Given the description of an element on the screen output the (x, y) to click on. 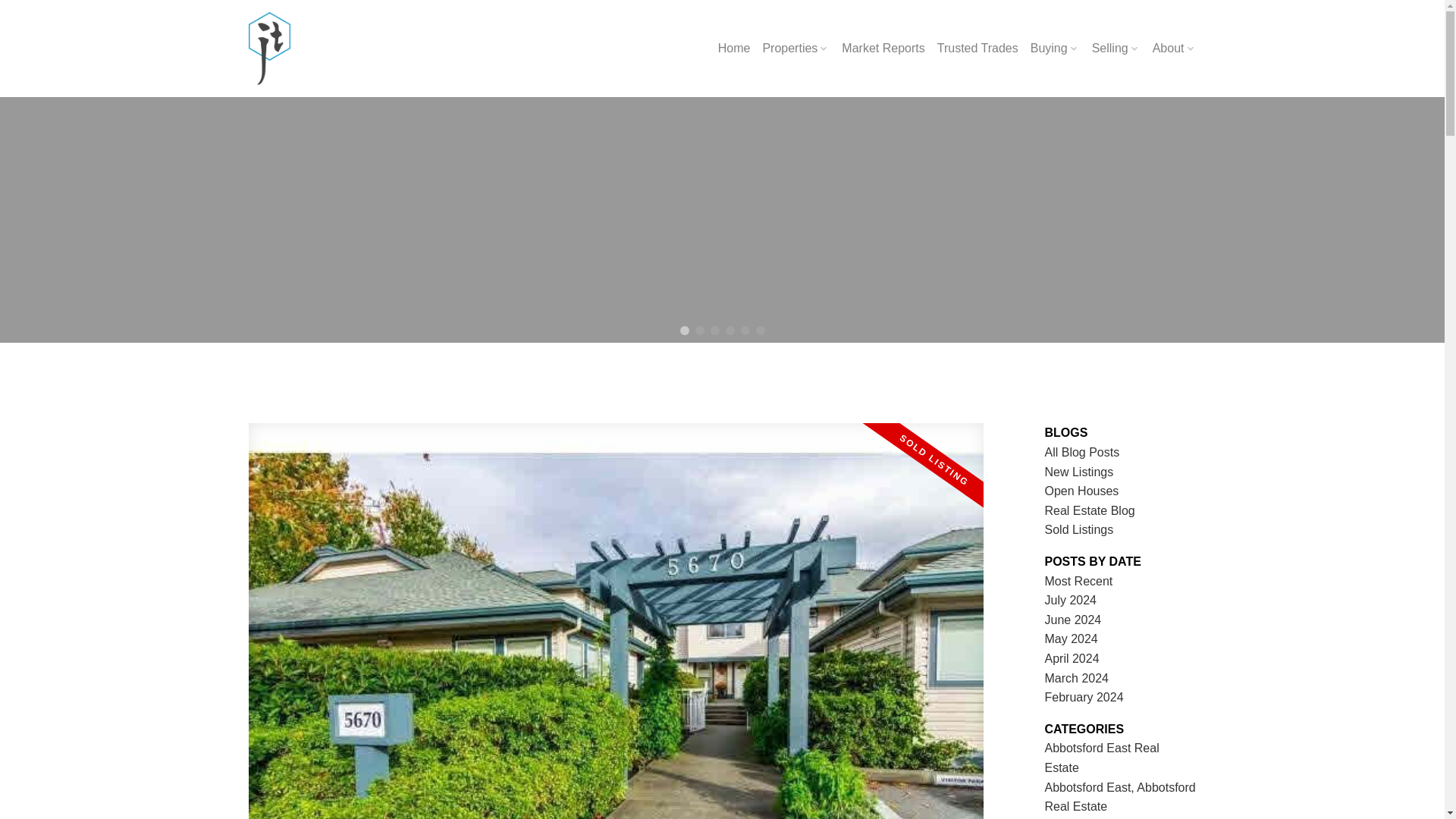
Home (734, 48)
Real Estate Blog (1090, 510)
Most Recent (1079, 581)
Open Houses (1082, 490)
February 2024 (1084, 697)
Abbotsford East, Abbotsford Real Estate (1120, 797)
Trusted Trades (977, 48)
Sold Listings (1079, 529)
July 2024 (1071, 599)
All Blog Posts (1082, 451)
